Given the description of an element on the screen output the (x, y) to click on. 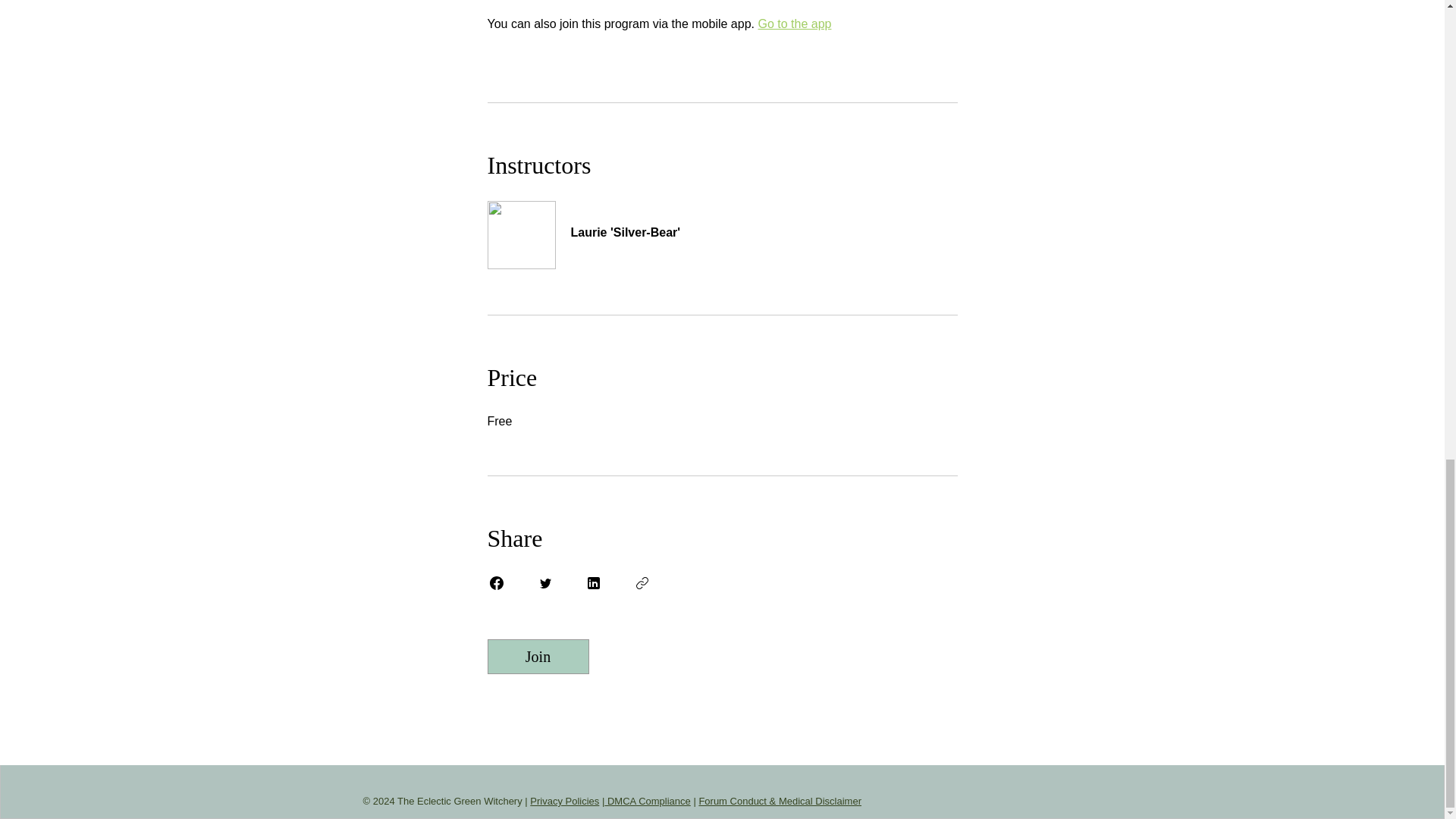
Privacy Policies (563, 800)
Go to the app (794, 23)
DMCA Compliance (647, 800)
Join (537, 656)
Laurie 'Silver-Bear' (721, 223)
